Given the description of an element on the screen output the (x, y) to click on. 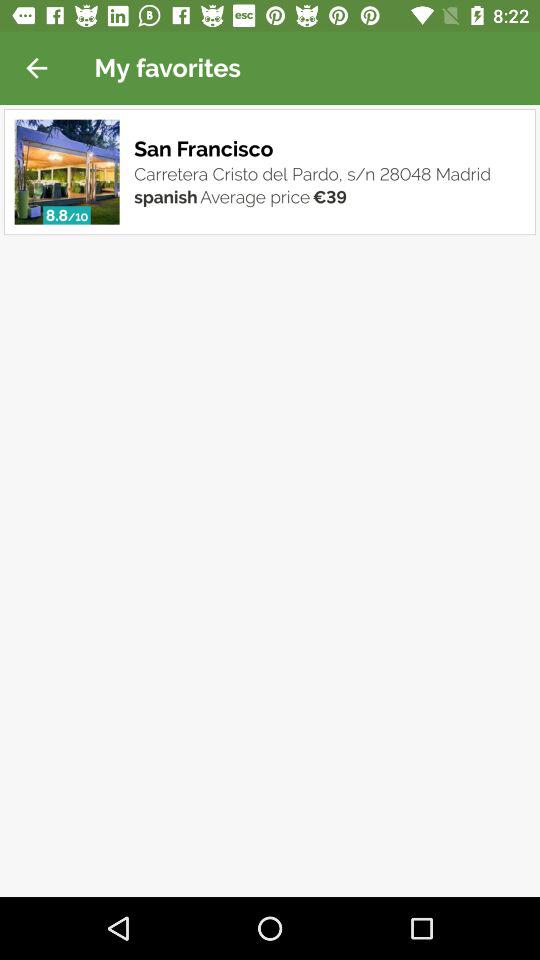
turn on icon next to the 8.8 icon (77, 217)
